Given the description of an element on the screen output the (x, y) to click on. 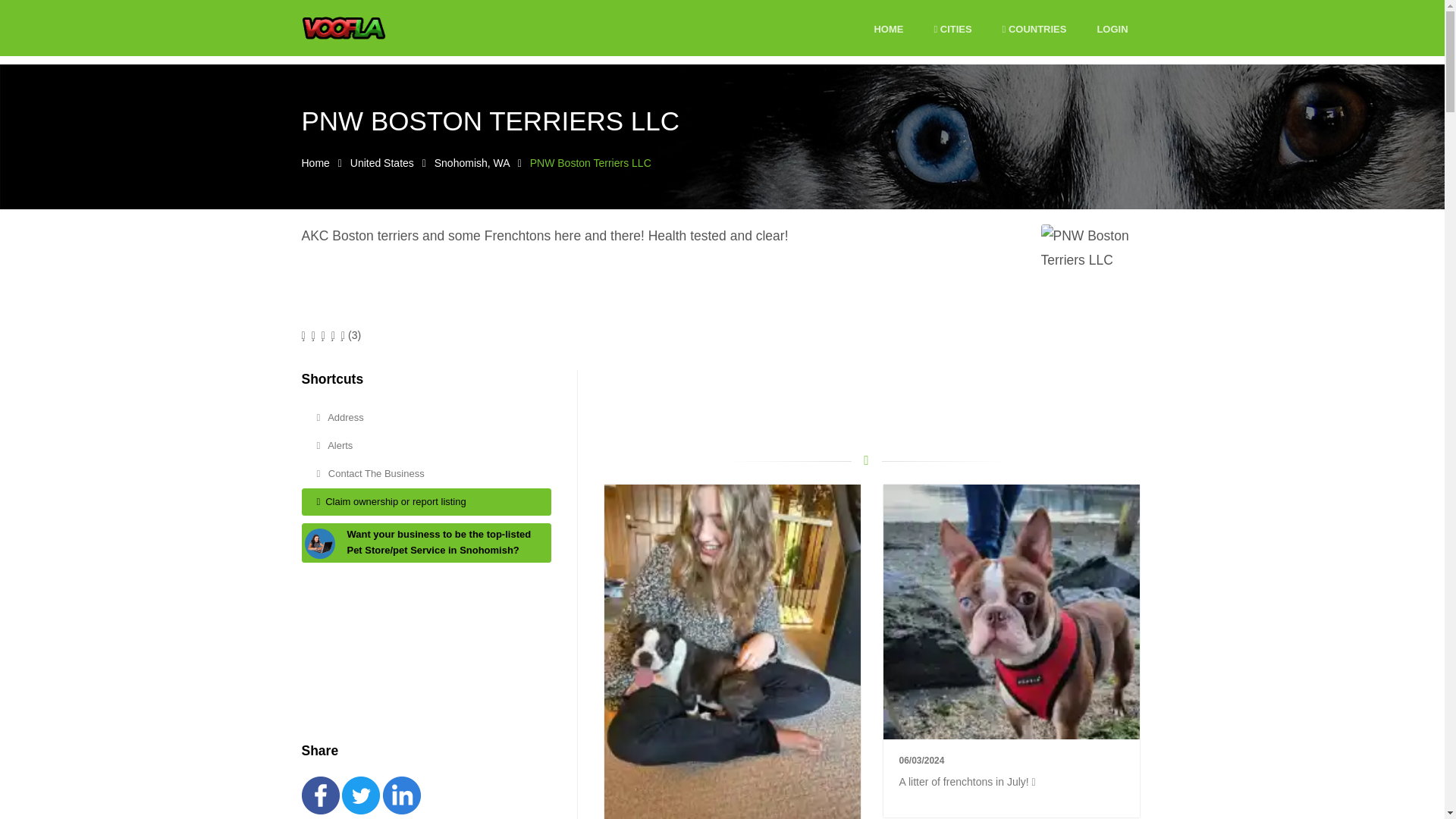
Alerts (426, 446)
Contact The Business (426, 474)
Home (315, 162)
Advertisement (865, 404)
Claim ownership or report listing (426, 502)
CITIES (952, 29)
Snohomish, WA (471, 162)
Address (426, 418)
HOME (887, 29)
United States (381, 162)
